Given the description of an element on the screen output the (x, y) to click on. 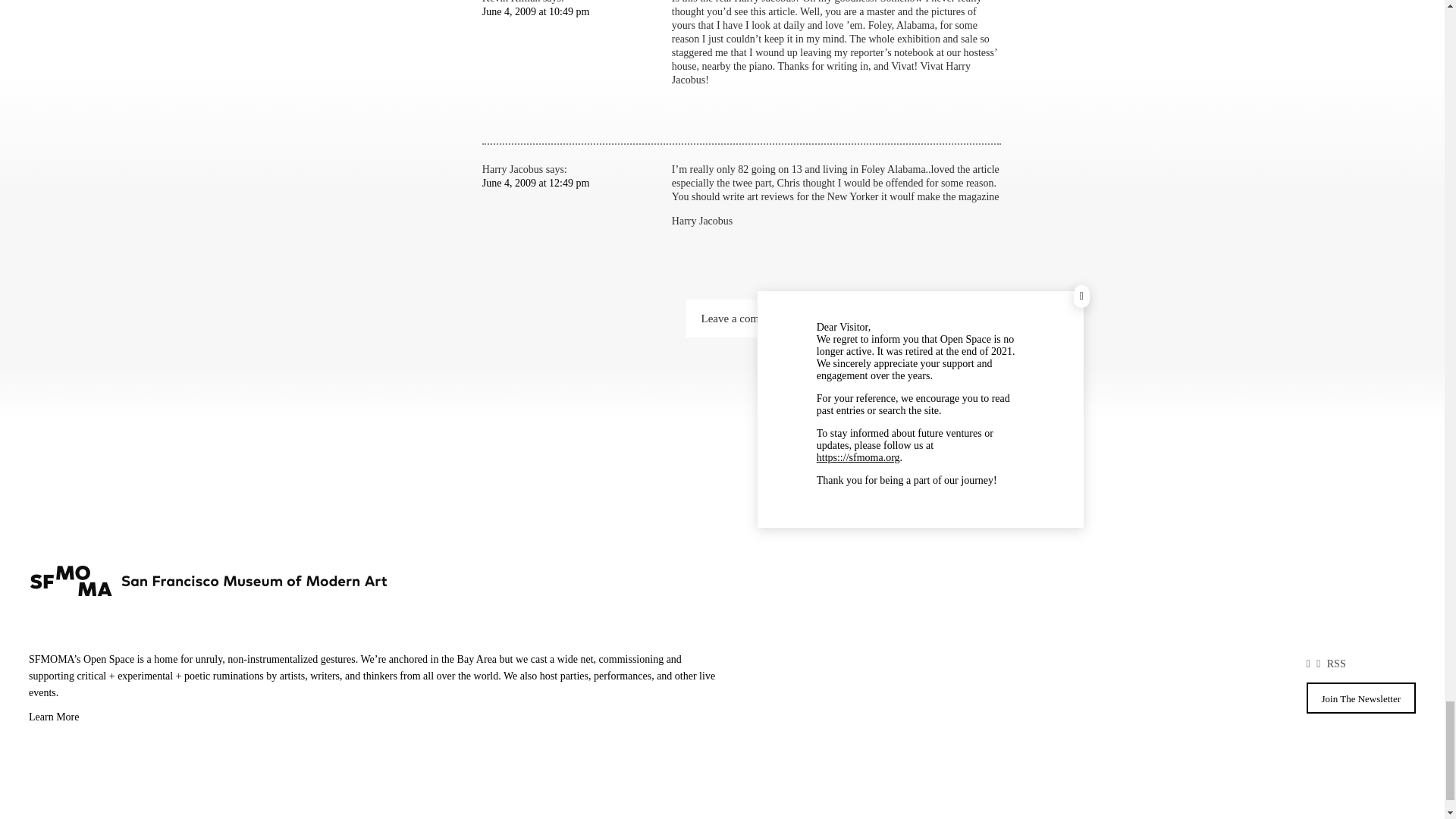
Learn More (375, 719)
RSS (1335, 664)
June 4, 2009 at 12:49 pm (535, 183)
Join The Newsletter (1360, 697)
June 4, 2009 at 10:49 pm (535, 11)
